Given the description of an element on the screen output the (x, y) to click on. 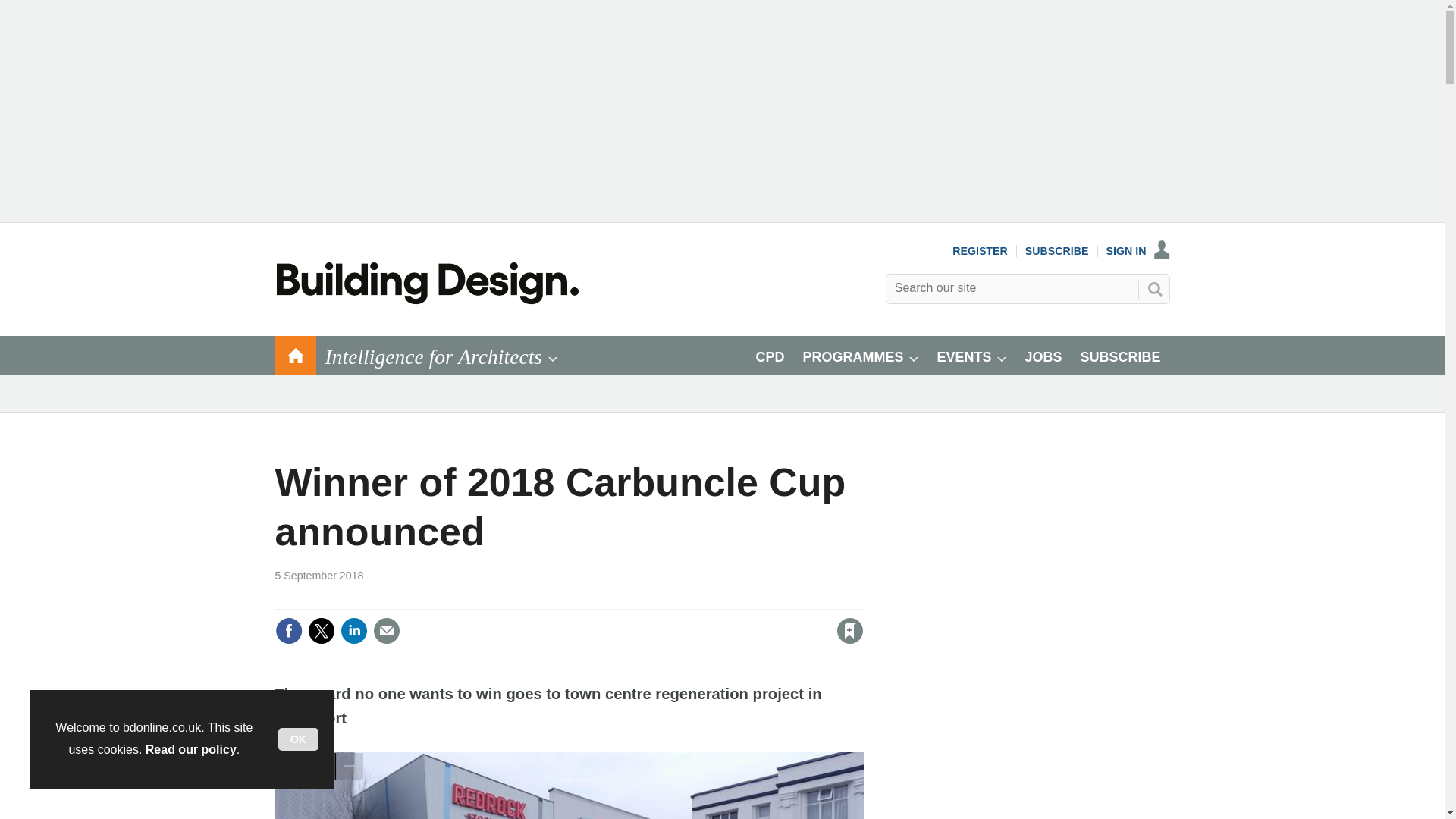
SIGN IN (1138, 250)
REGISTER (979, 250)
Share this on Linked in (352, 630)
3rd party ad content (1055, 703)
Share this on Twitter (320, 630)
Read our policy (190, 748)
SEARCH (1153, 288)
Share this on Facebook (288, 630)
SUBSCRIBE (1057, 250)
OK (298, 739)
Email this article (386, 630)
